Given the description of an element on the screen output the (x, y) to click on. 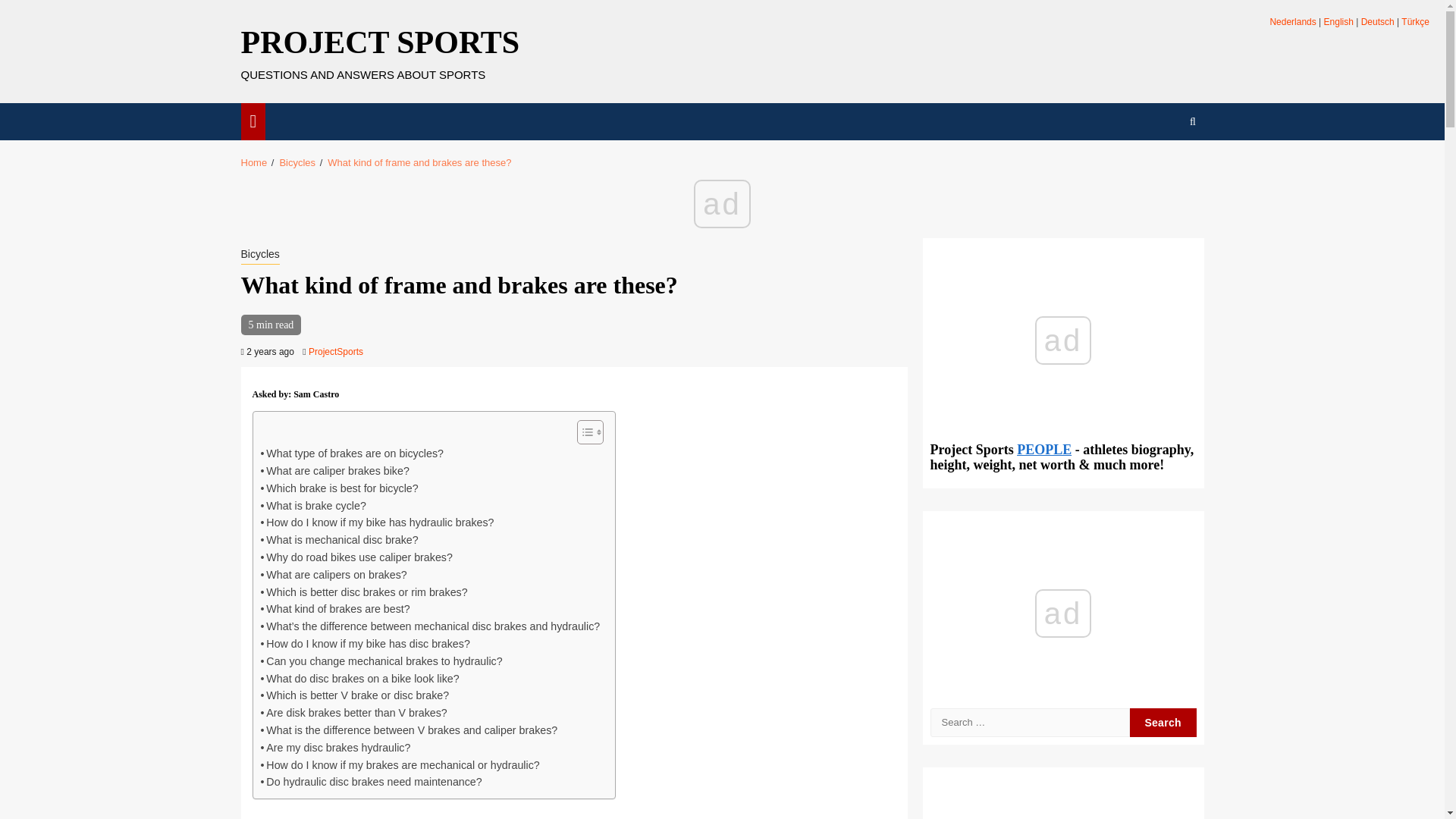
What are caliper brakes bike? (334, 470)
How do I know if my bike has disc brakes? (365, 643)
How do I know if my bike has hydraulic brakes? (377, 522)
What are caliper brakes bike? (334, 470)
What type of brakes are on bicycles? (352, 453)
ProjectSports (335, 351)
Can you change mechanical brakes to hydraulic? (381, 661)
Bicycles (260, 255)
What kind of brakes are best? (335, 609)
How do I know if my brakes are mechanical or hydraulic? (400, 764)
Bicycles (297, 162)
What is brake cycle? (313, 506)
How do I know if my bike has disc brakes? (365, 643)
Search (1163, 167)
Why do road bikes use caliper brakes? (356, 557)
